Given the description of an element on the screen output the (x, y) to click on. 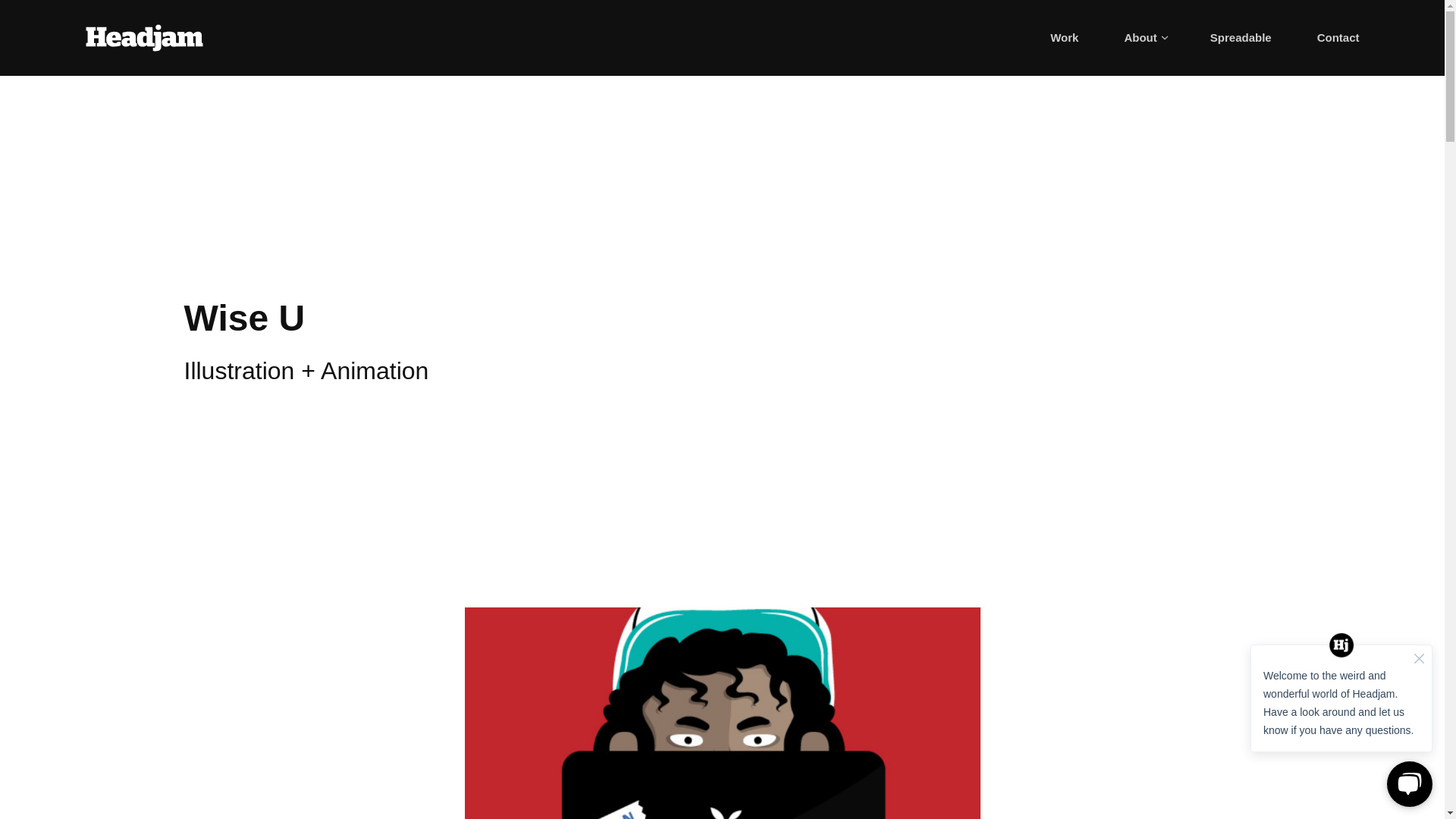
About (1143, 38)
Work (1063, 38)
Spreadable (1241, 38)
Work (1063, 38)
Contact (1337, 38)
Spreadable (1241, 38)
Contact (1337, 38)
About (1143, 38)
Headjam (143, 38)
